Given the description of an element on the screen output the (x, y) to click on. 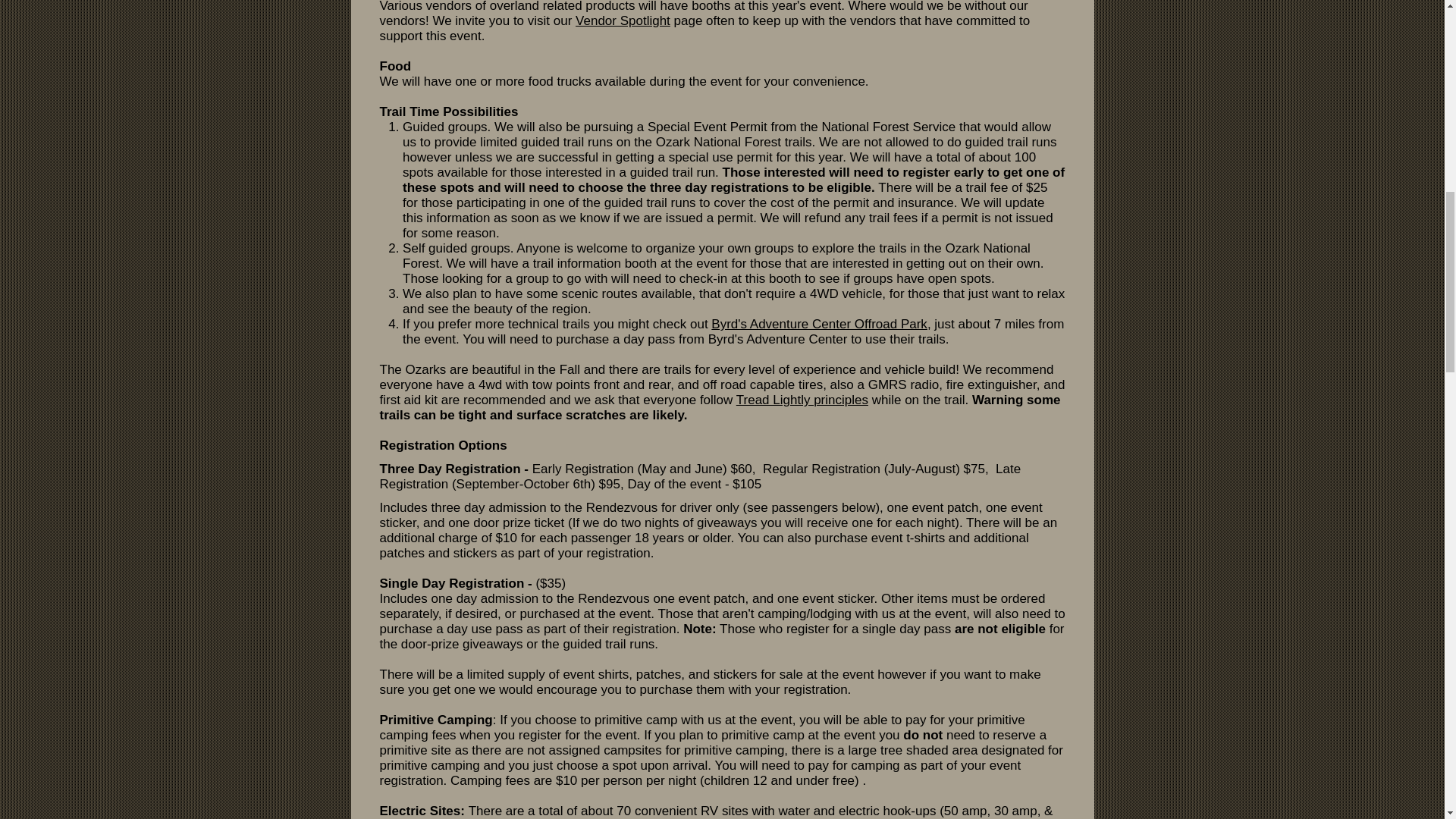
Byrd's Adventure Center Offroad Park (819, 323)
Vendor Spotlight (622, 20)
Tread Lightly principles (801, 400)
